Given the description of an element on the screen output the (x, y) to click on. 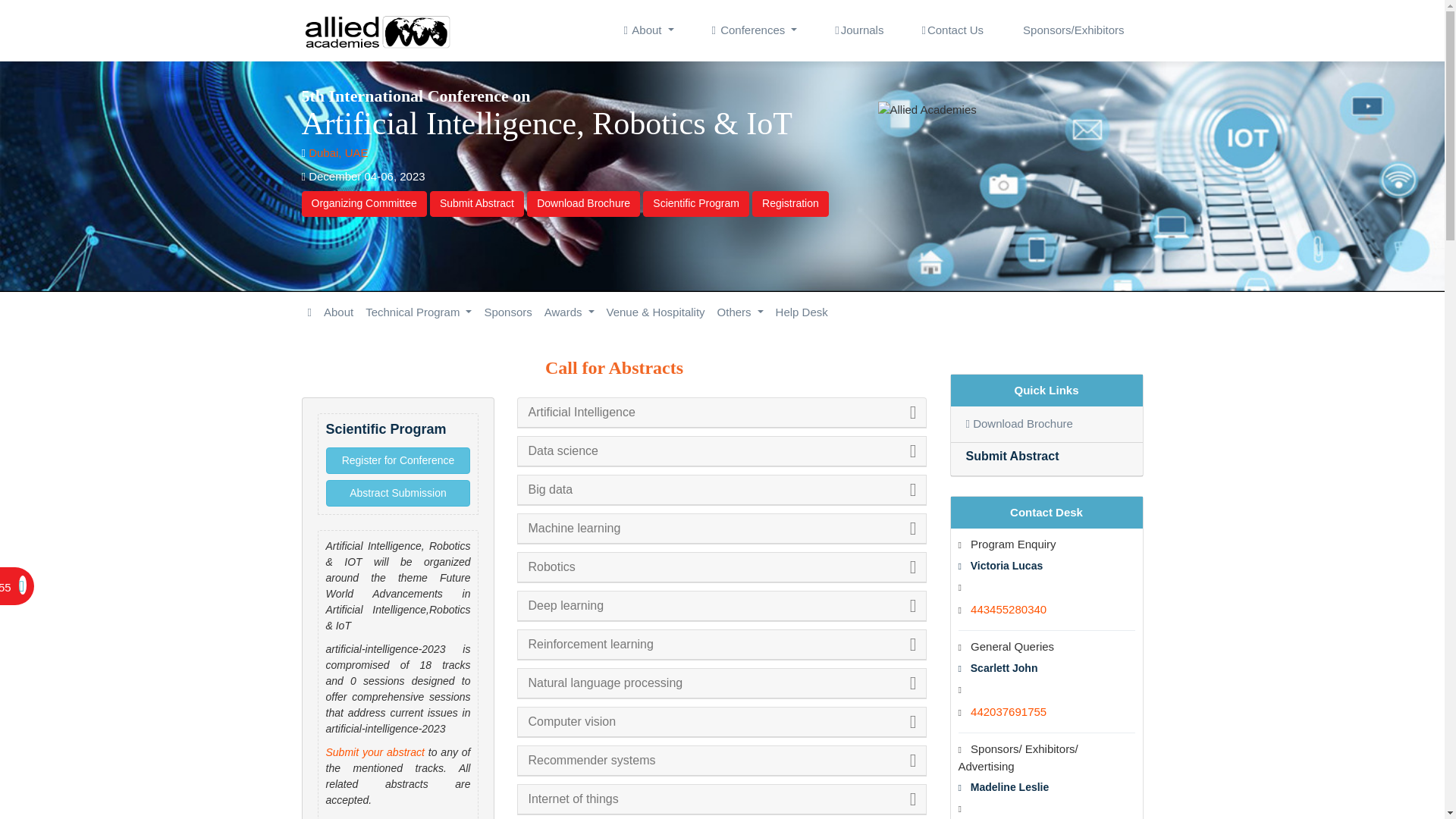
Click here (336, 152)
Click here (858, 30)
Others (740, 312)
Journals (858, 30)
Organizing Committee (363, 203)
Download Brochure (583, 203)
Scientific Program (696, 203)
Register for Conference (398, 460)
Click here (338, 312)
Awards (568, 312)
